Given the description of an element on the screen output the (x, y) to click on. 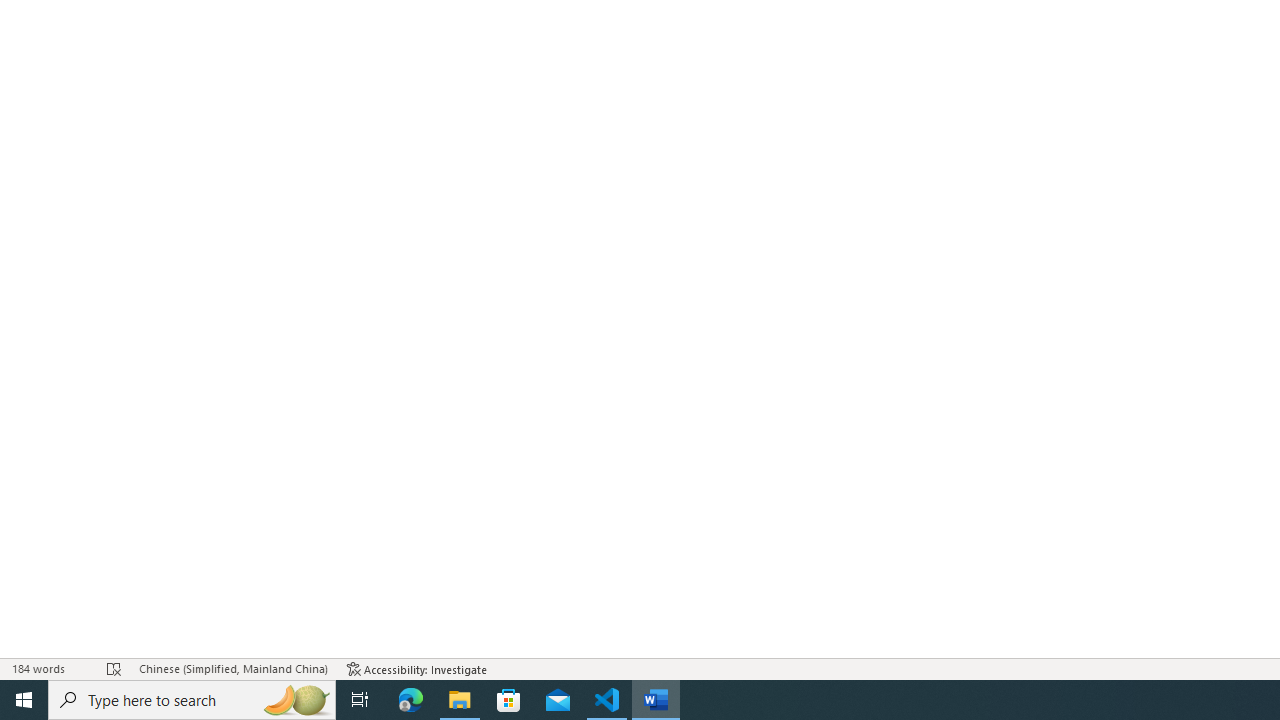
Word Count 184 words (49, 668)
